Given the description of an element on the screen output the (x, y) to click on. 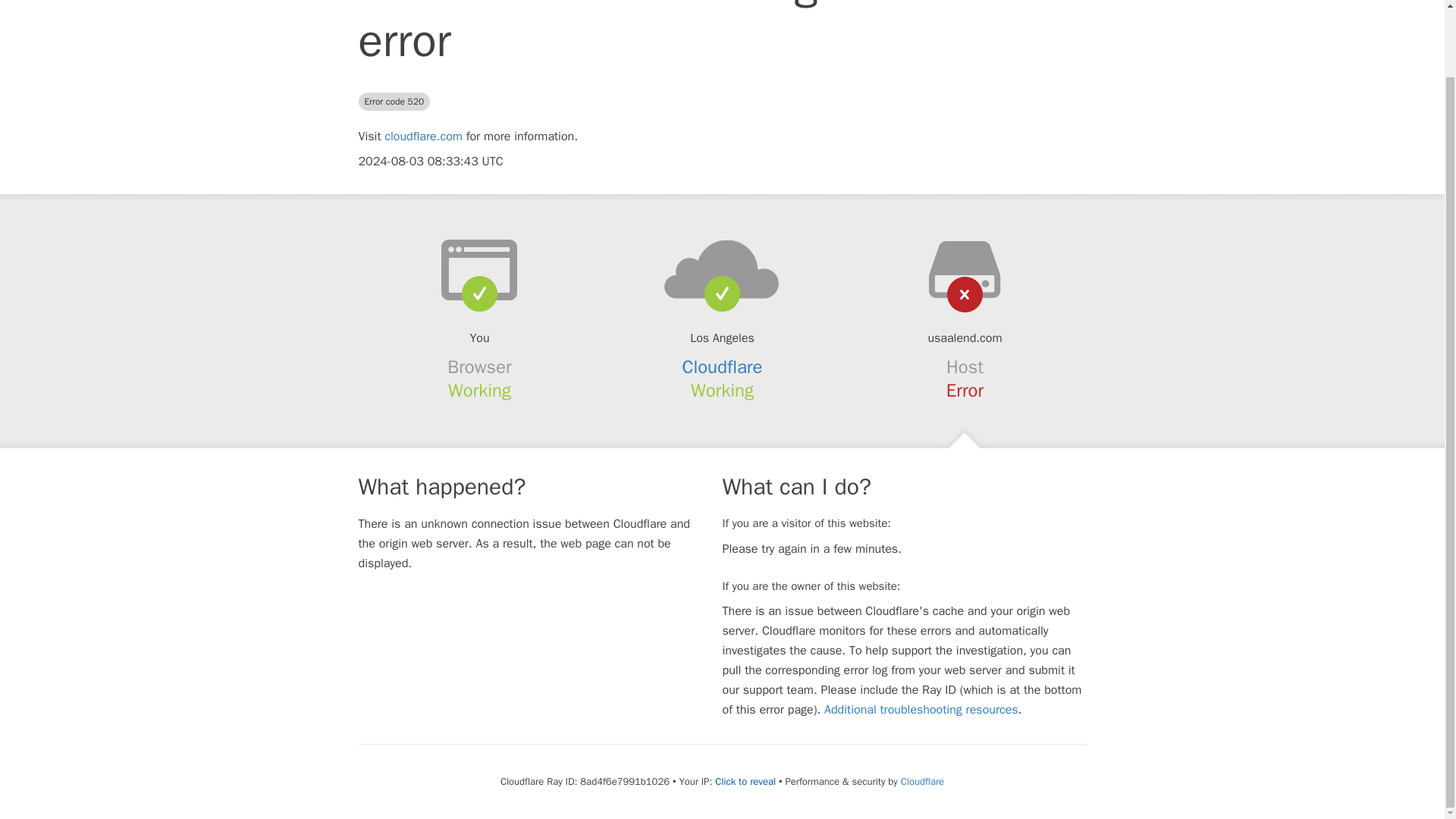
Click to reveal (745, 781)
Additional troubleshooting resources (920, 709)
cloudflare.com (423, 136)
Cloudflare (922, 780)
Cloudflare (722, 366)
